Given the description of an element on the screen output the (x, y) to click on. 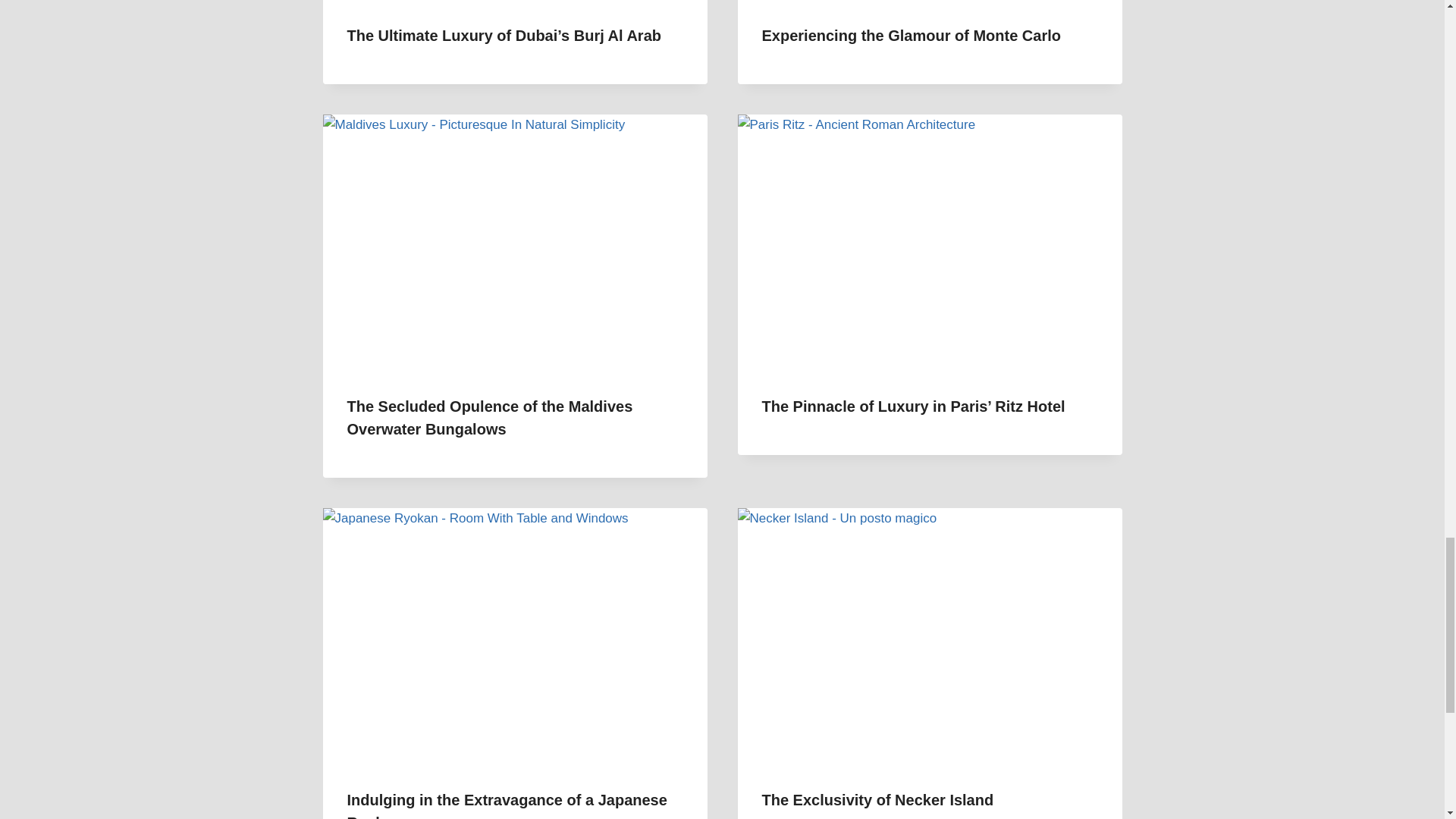
The Secluded Opulence of the Maldives Overwater Bungalows (490, 417)
The Exclusivity of Necker Island (876, 799)
Experiencing the Glamour of Monte Carlo (911, 35)
Indulging in the Extravagance of a Japanese Ryokan (506, 805)
